Given the description of an element on the screen output the (x, y) to click on. 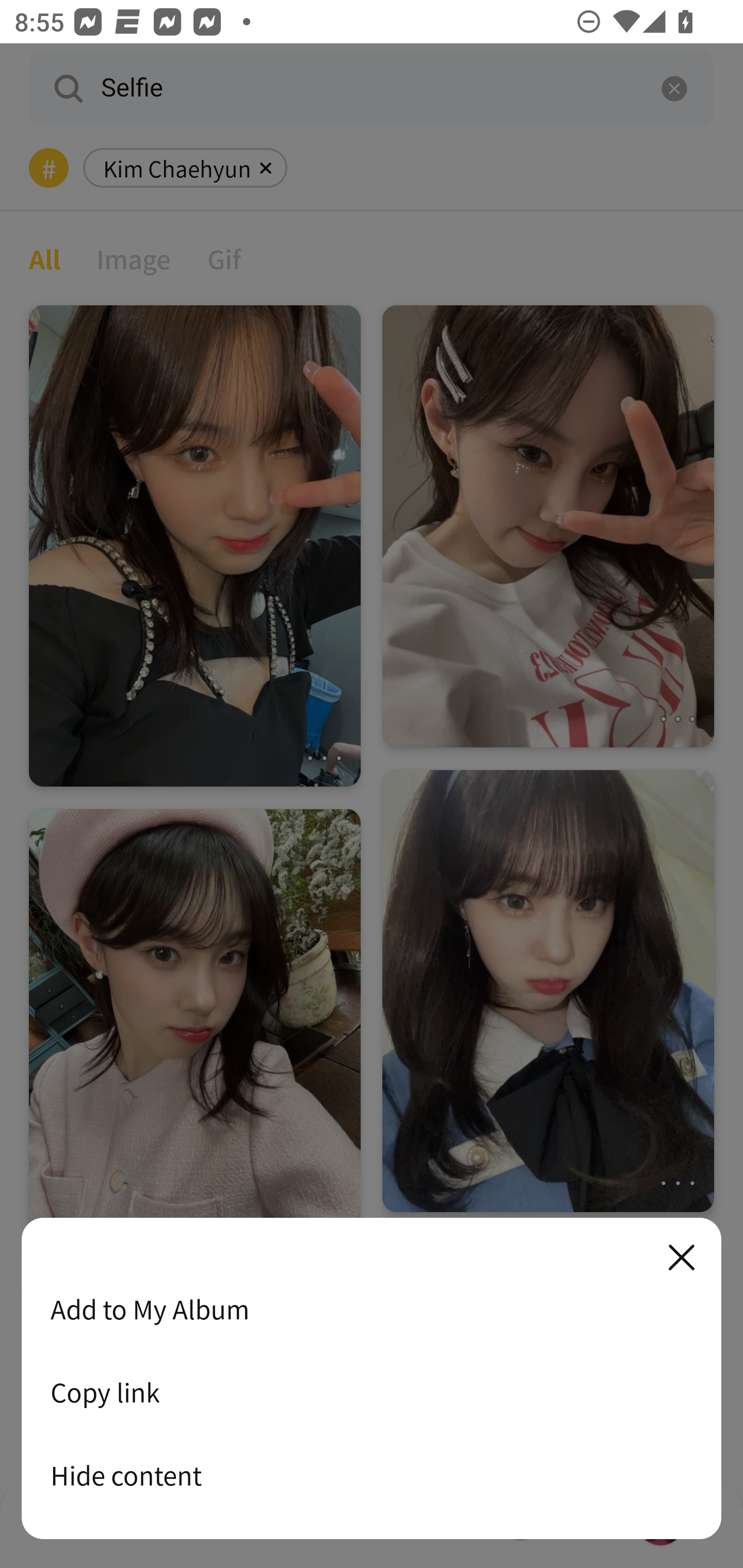
Add to My Album Copy link Hide content (371, 1378)
Add to My Album (371, 1308)
Copy link (371, 1391)
Hide content (371, 1474)
